Given the description of an element on the screen output the (x, y) to click on. 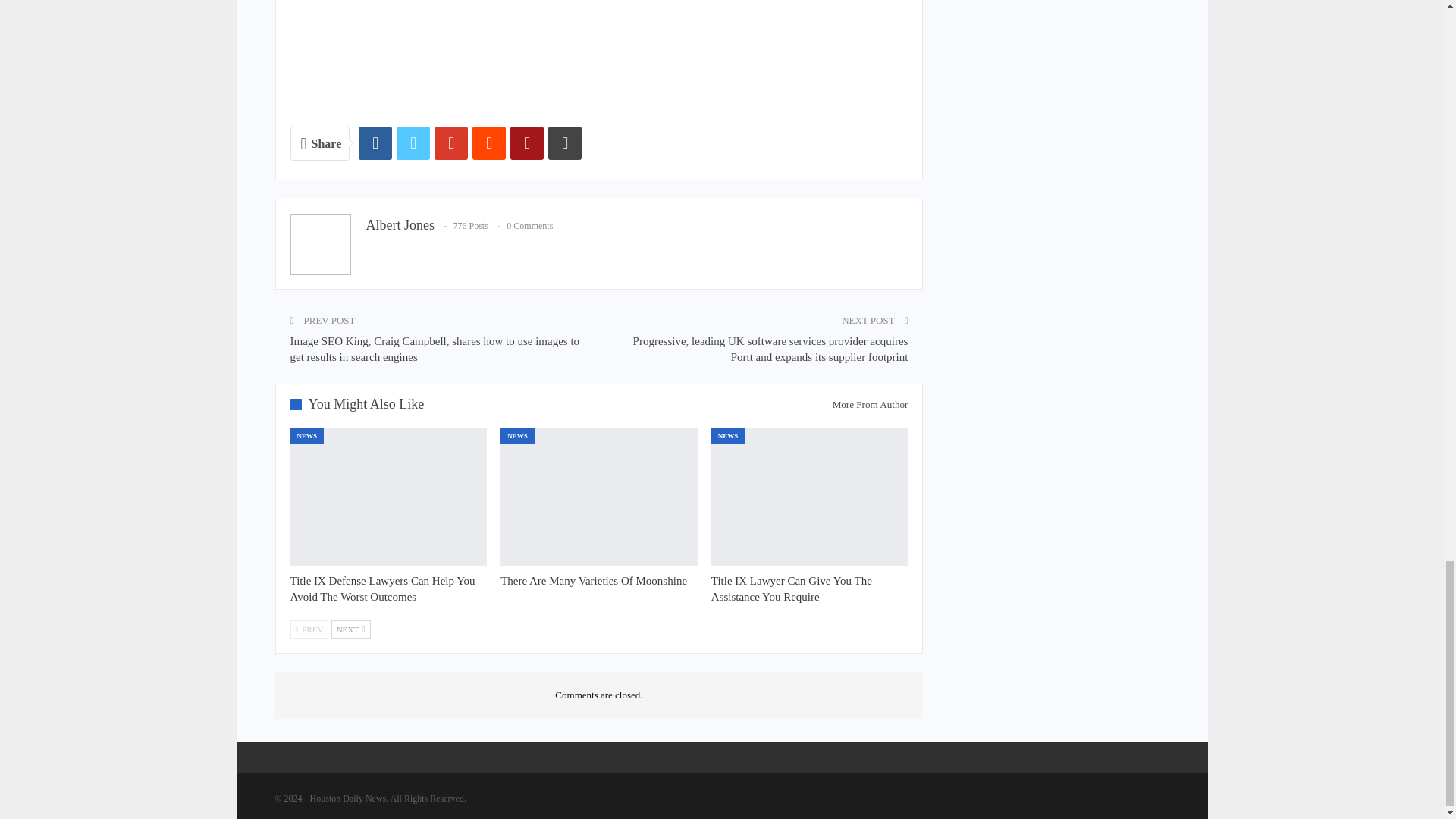
There Are Many Varieties Of Moonshine (593, 580)
There Are Many Varieties Of Moonshine (598, 497)
Title IX Lawyer Can Give You The Assistance You Require (791, 588)
Title IX Lawyer Can Give You The Assistance You Require (809, 497)
